Given the description of an element on the screen output the (x, y) to click on. 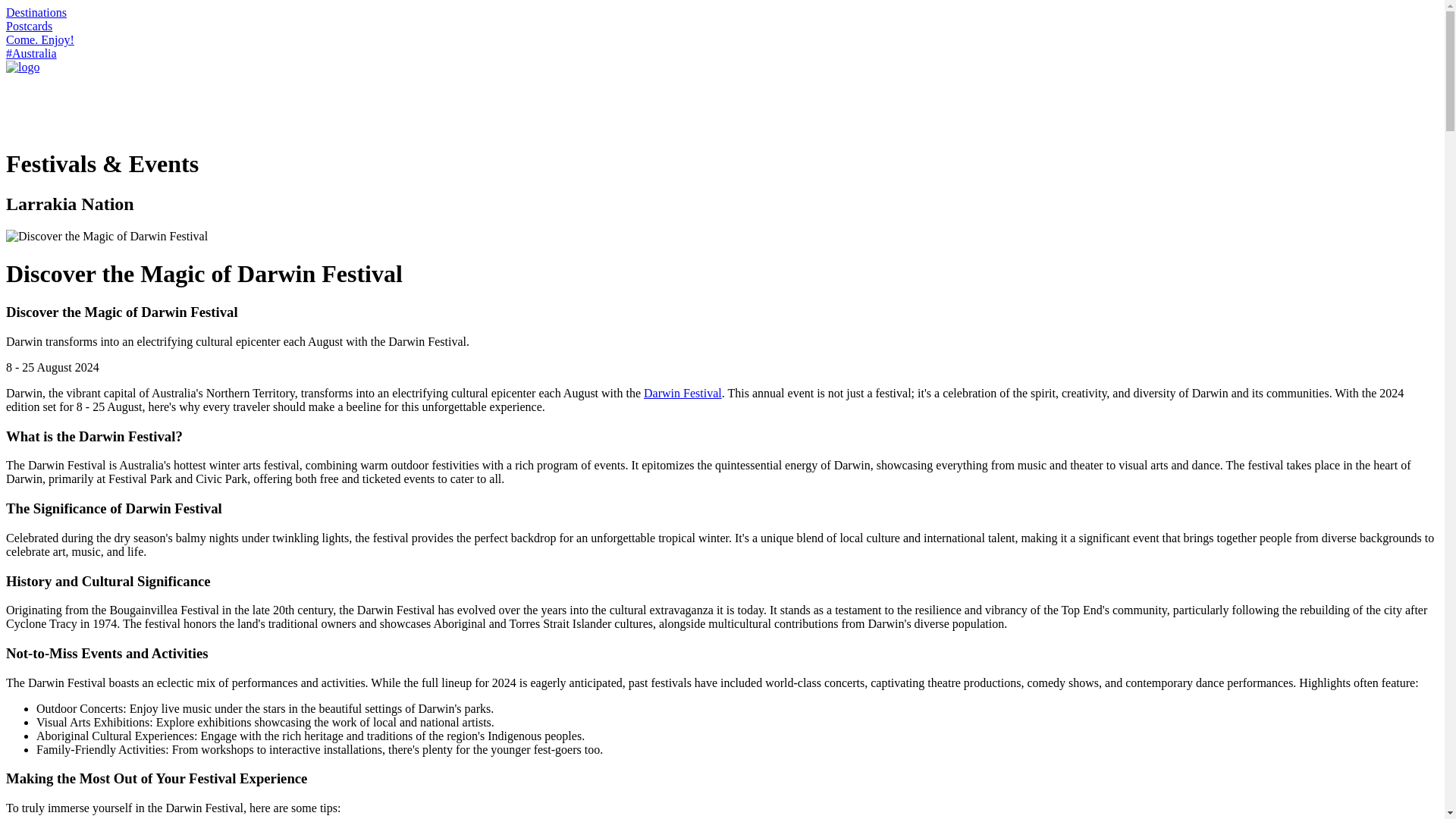
Destinations (35, 11)
Postcards (28, 25)
Darwin Festival (682, 392)
Come. Enjoy! (39, 39)
Absolutely Australia (22, 66)
